Given the description of an element on the screen output the (x, y) to click on. 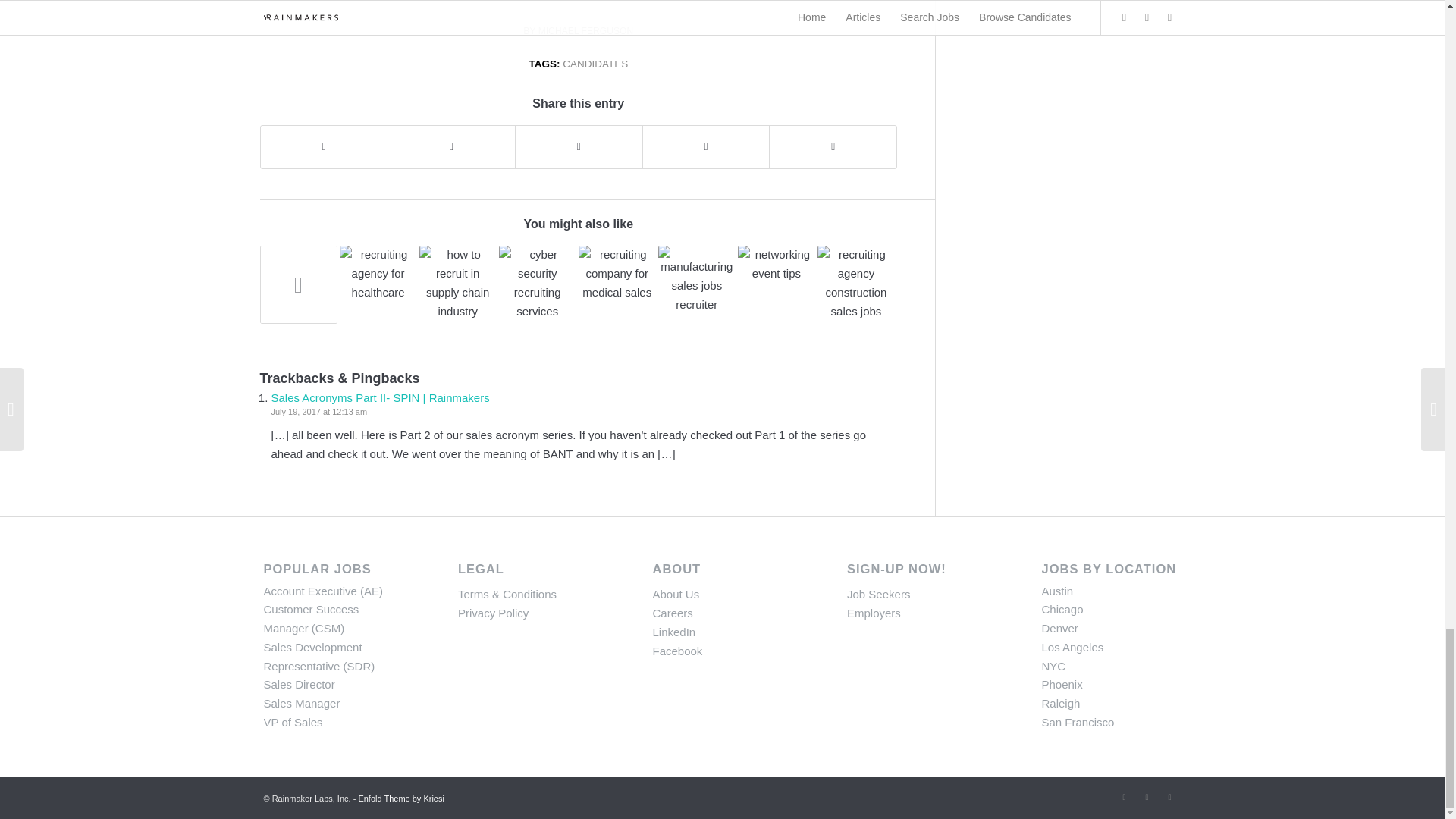
Posts by Michael Ferguson (585, 30)
July 19, 2017 at 12:13 am (319, 411)
MICHAEL FERGUSON (585, 30)
CANDIDATES (594, 63)
